Given the description of an element on the screen output the (x, y) to click on. 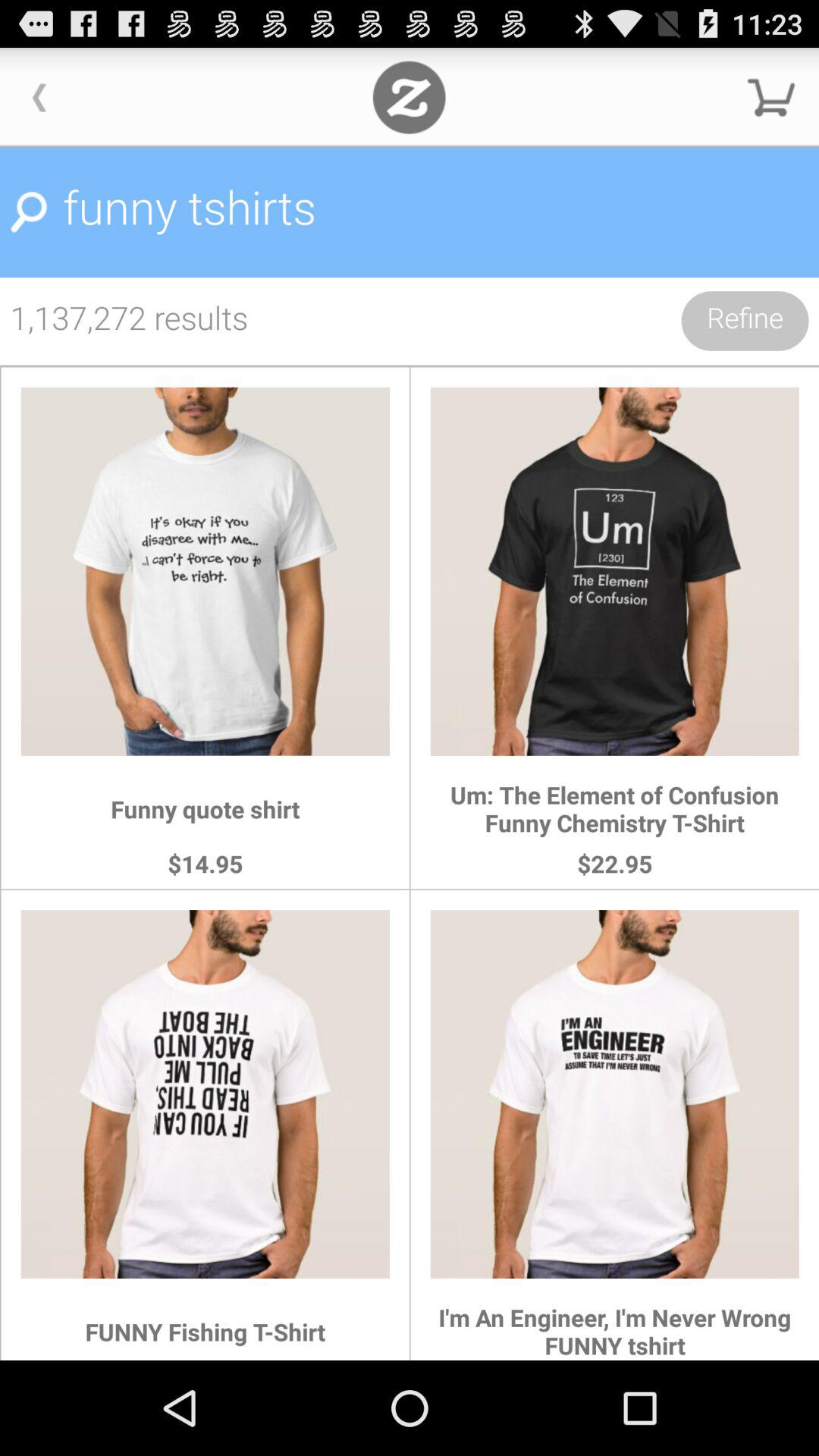
shopping cart (771, 97)
